Given the description of an element on the screen output the (x, y) to click on. 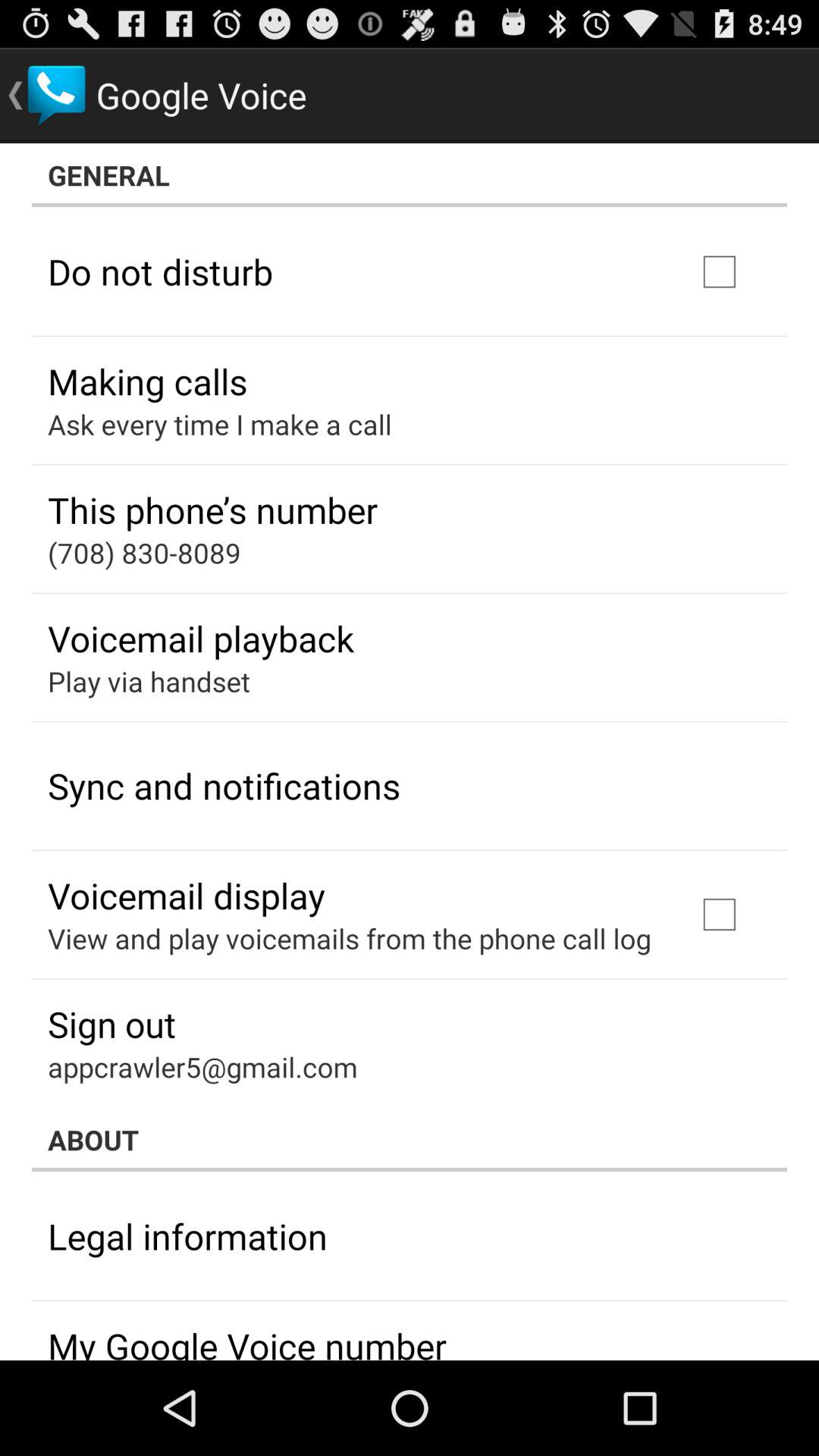
press icon above the voicemail playback app (144, 552)
